Given the description of an element on the screen output the (x, y) to click on. 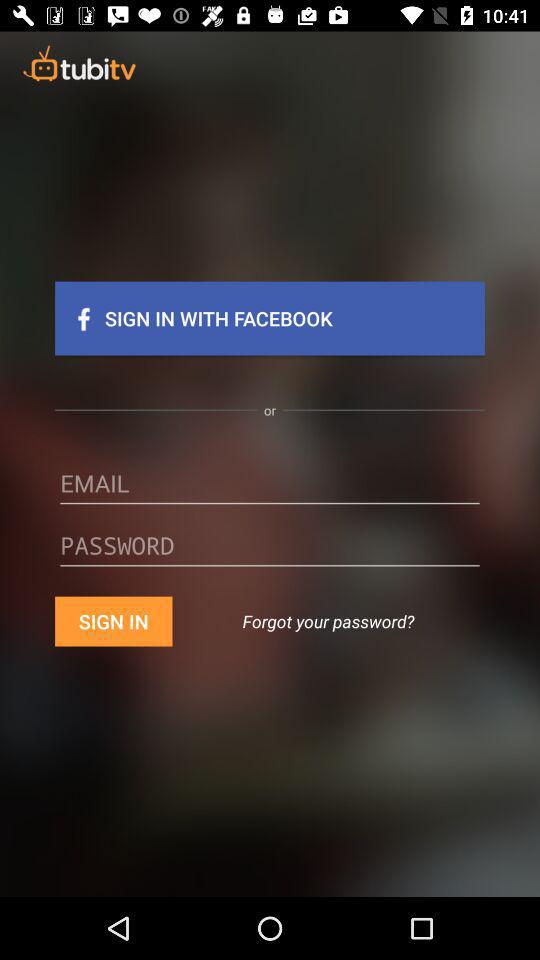
turn off icon to the right of the sign in (328, 621)
